Given the description of an element on the screen output the (x, y) to click on. 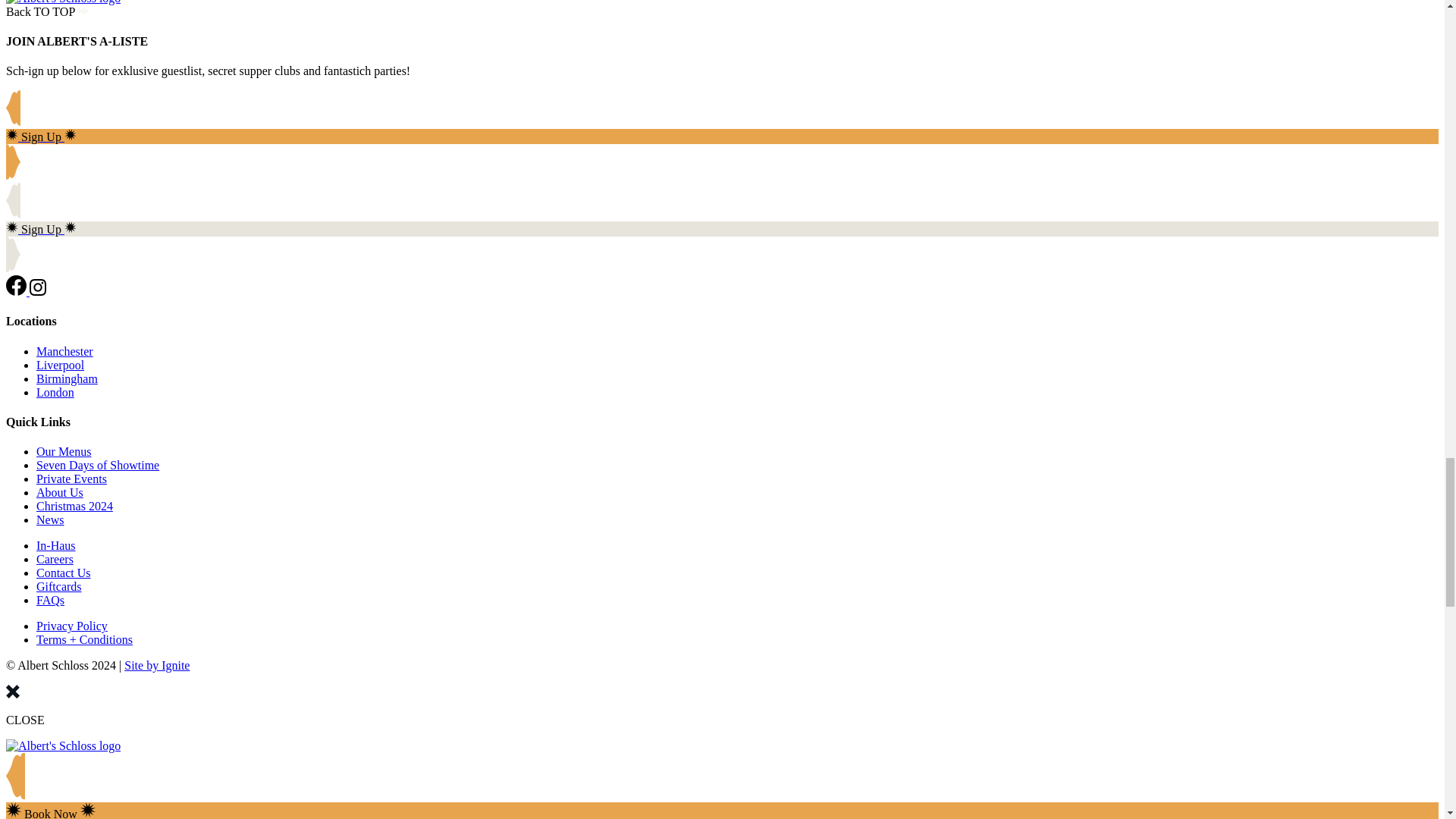
News (50, 519)
Birmingham (66, 378)
Liverpool (60, 364)
Private Events (71, 478)
Contact Us (63, 572)
Christmas 2024 (74, 505)
Seven Days of Showtime (97, 464)
In-Haus (55, 545)
FAQs (50, 599)
About Us (59, 492)
Manchester (64, 350)
Careers (55, 558)
Our Menus (63, 451)
Giftcards (58, 585)
London (55, 391)
